Given the description of an element on the screen output the (x, y) to click on. 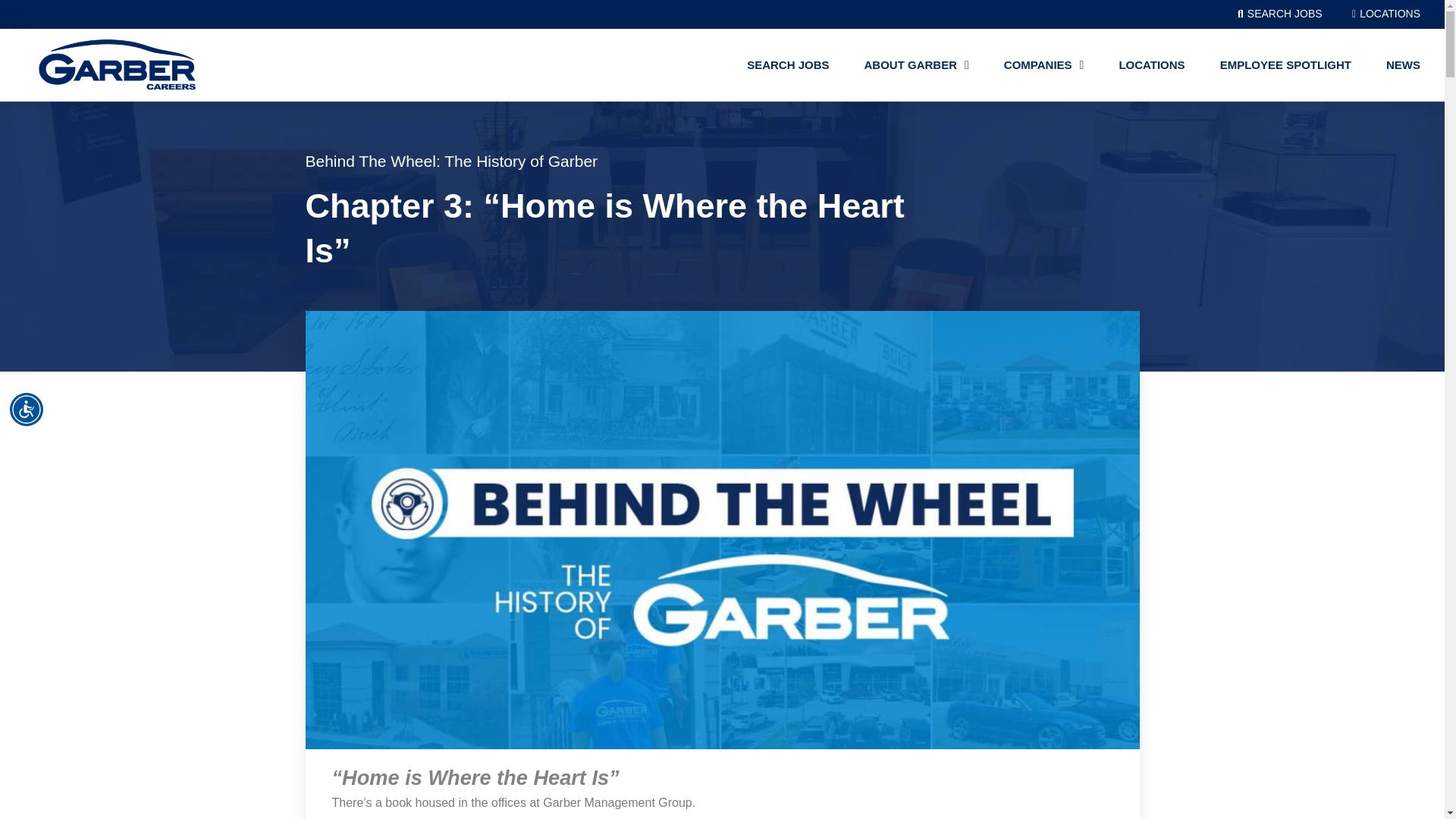
NEWS (1403, 64)
LOCATIONS (1151, 64)
SEARCH JOBS (1276, 14)
ABOUT GARBER (916, 64)
Accessibility Menu (26, 409)
LOCATIONS (1381, 14)
Behind The Wheel: The History of Garber (450, 160)
SEARCH JOBS (788, 64)
EMPLOYEE SPOTLIGHT (1286, 64)
COMPANIES (1043, 64)
